Given the description of an element on the screen output the (x, y) to click on. 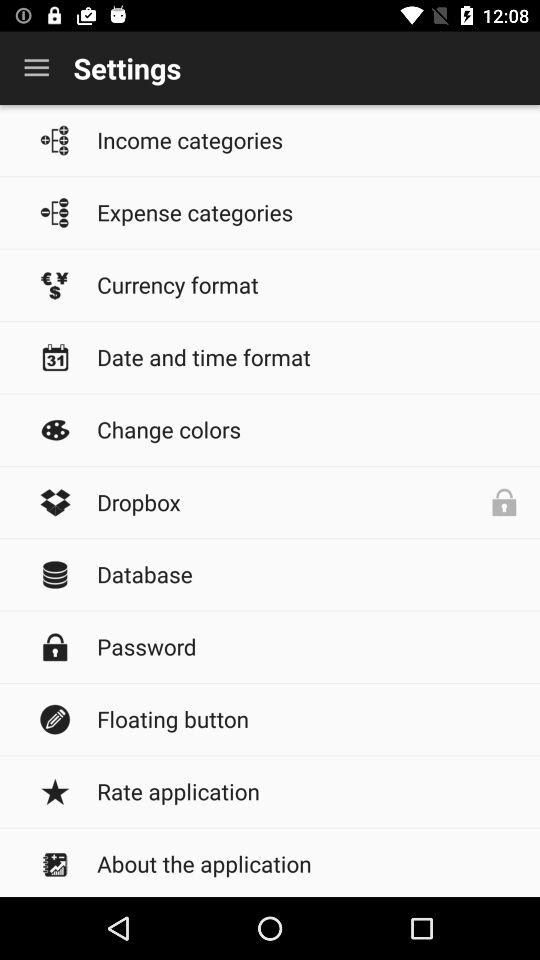
scroll until about the application icon (308, 863)
